Given the description of an element on the screen output the (x, y) to click on. 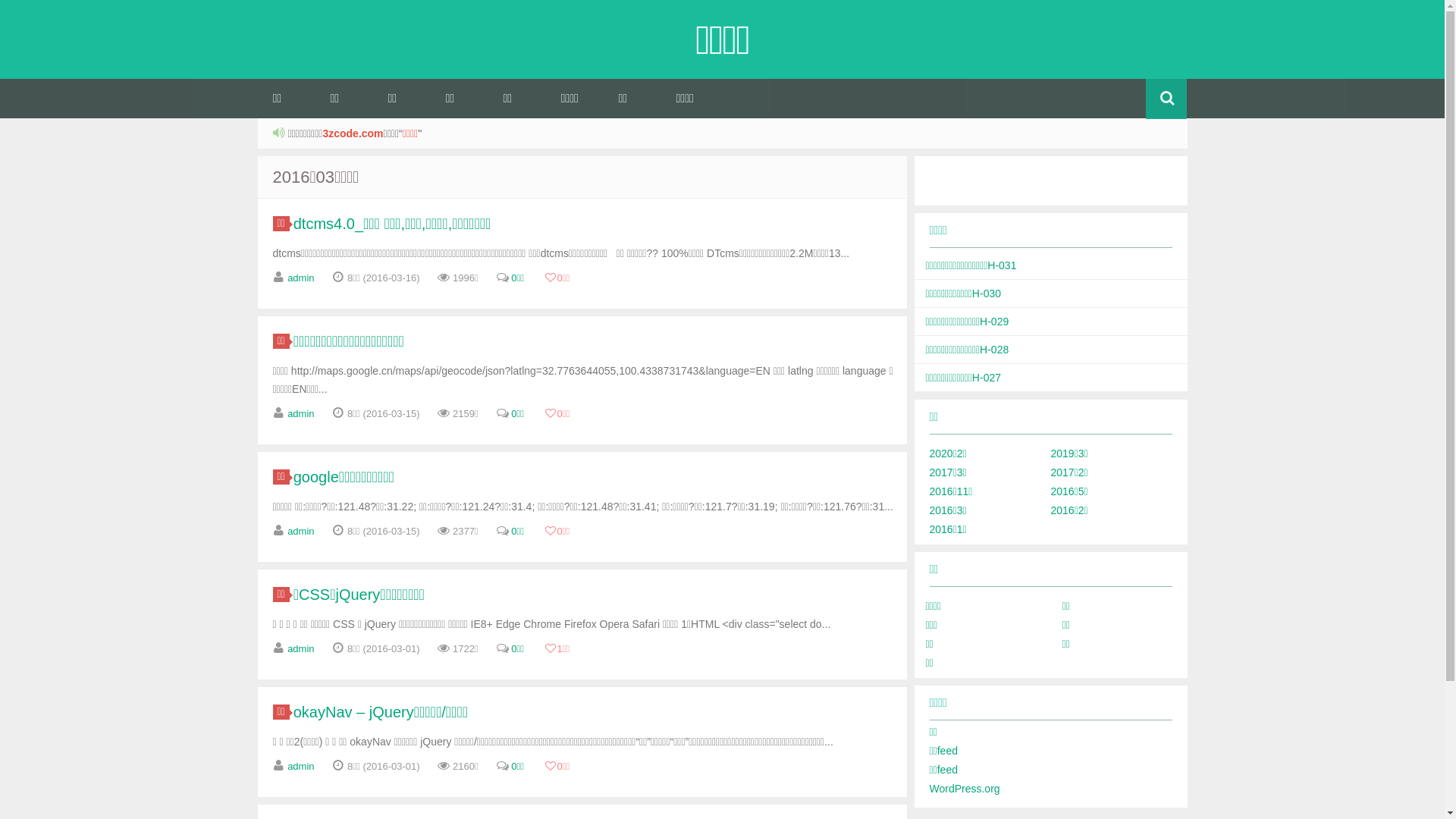
3zcode.com Element type: text (352, 133)
admin Element type: text (300, 765)
admin Element type: text (300, 277)
admin Element type: text (300, 413)
admin Element type: text (300, 648)
WordPress.org Element type: text (964, 788)
admin Element type: text (300, 530)
